Given the description of an element on the screen output the (x, y) to click on. 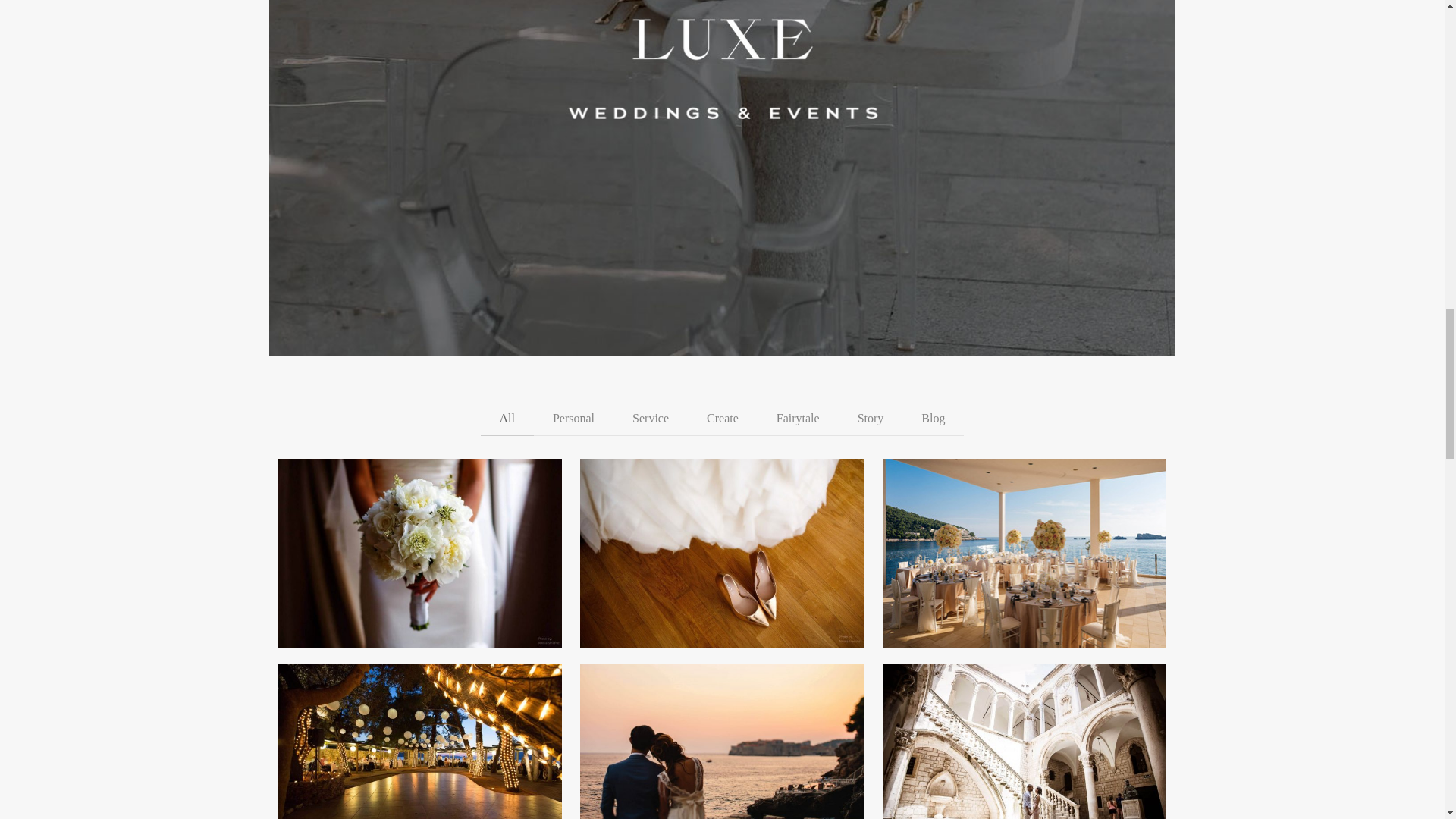
Story (870, 418)
Fairytale (797, 418)
Personal (573, 418)
Blog (932, 418)
Create (722, 418)
Service (649, 418)
All (507, 418)
